Given the description of an element on the screen output the (x, y) to click on. 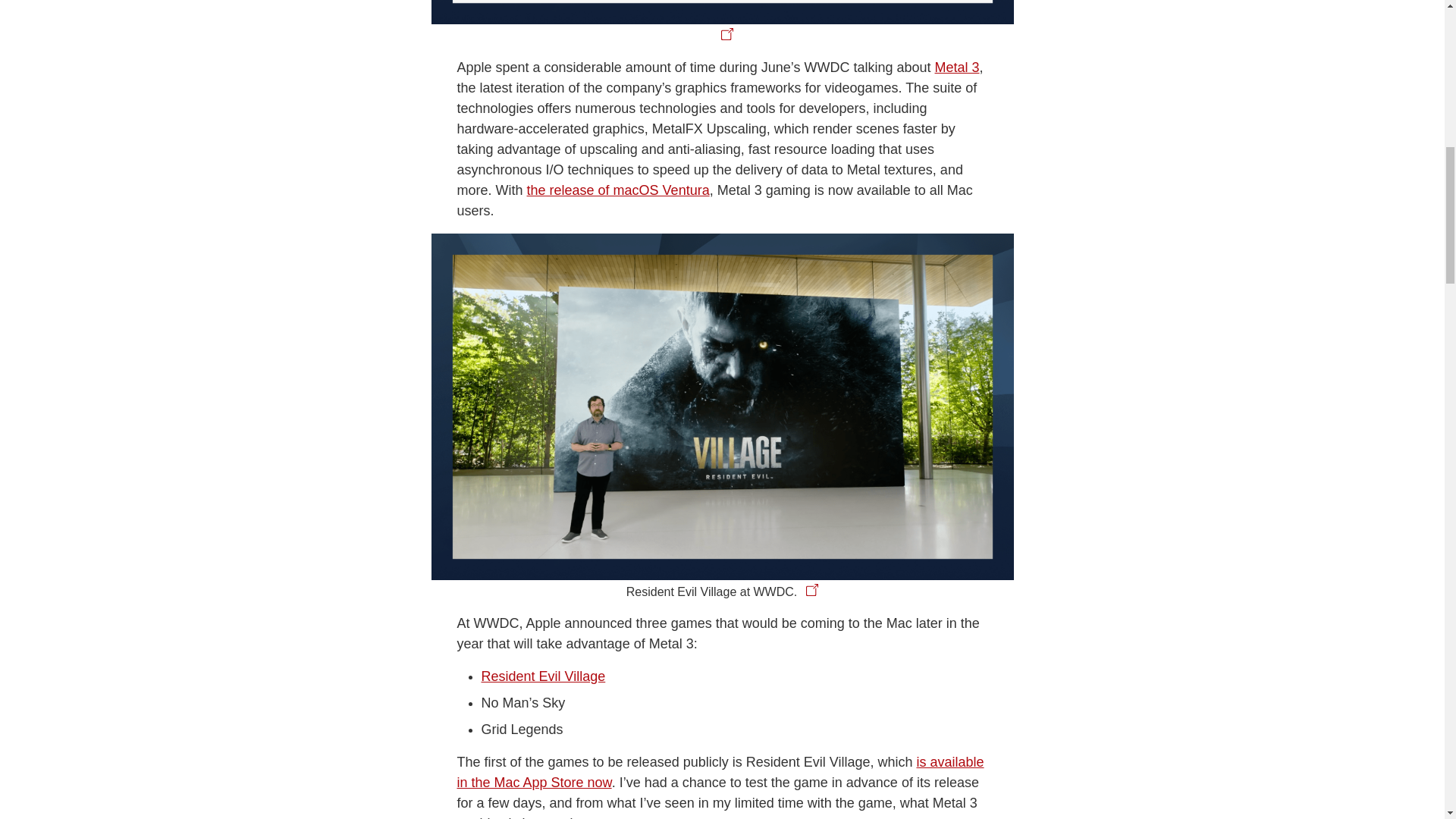
Resident Evil Village (542, 676)
Metal 3 (956, 67)
the release of macOS Ventura (618, 190)
is available in the Mac App Store now (720, 772)
